Given the description of an element on the screen output the (x, y) to click on. 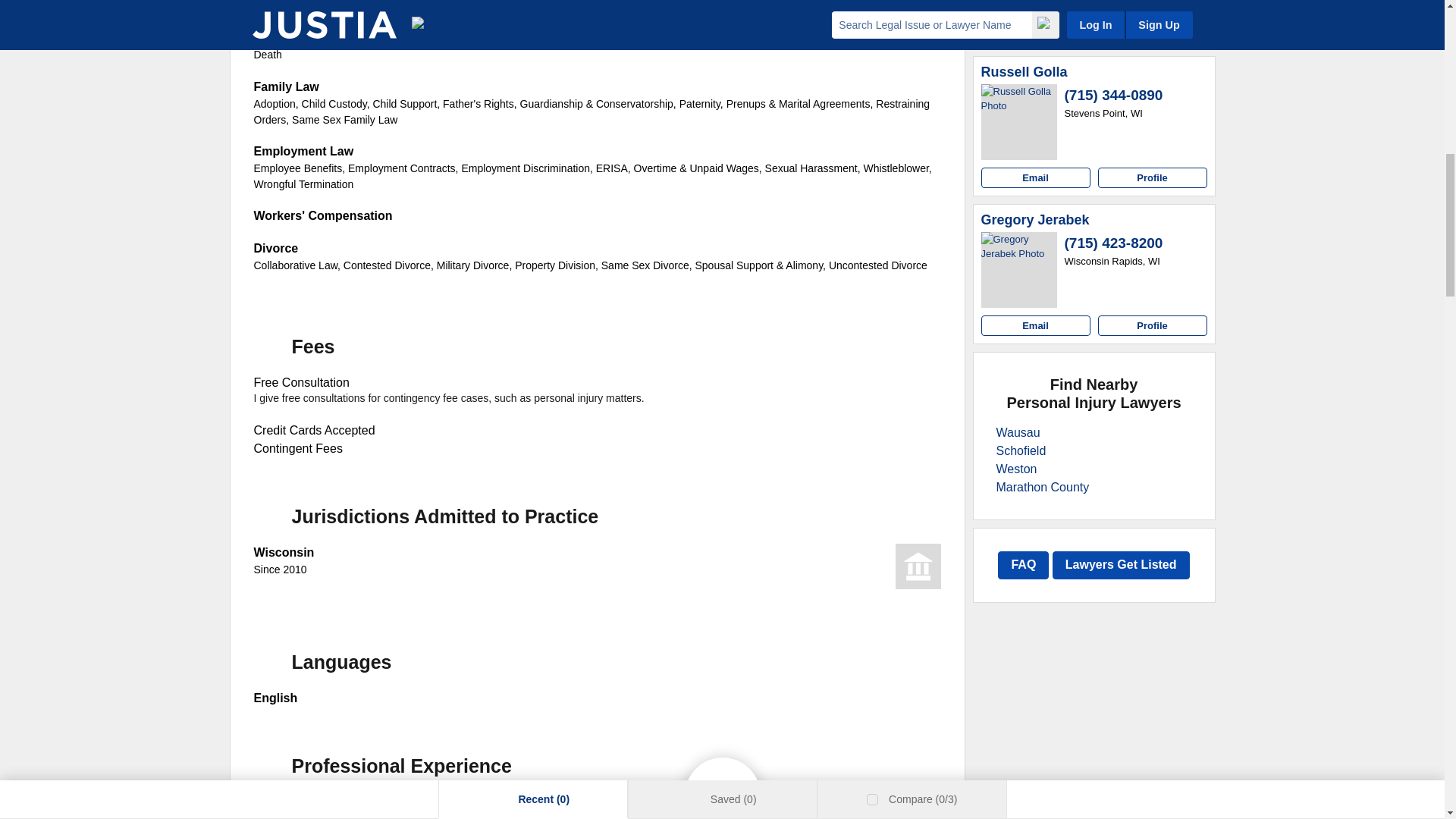
Stuart Robert Rottier (1019, 6)
Russell Golla (1024, 72)
Russell Golla (1019, 121)
